Given the description of an element on the screen output the (x, y) to click on. 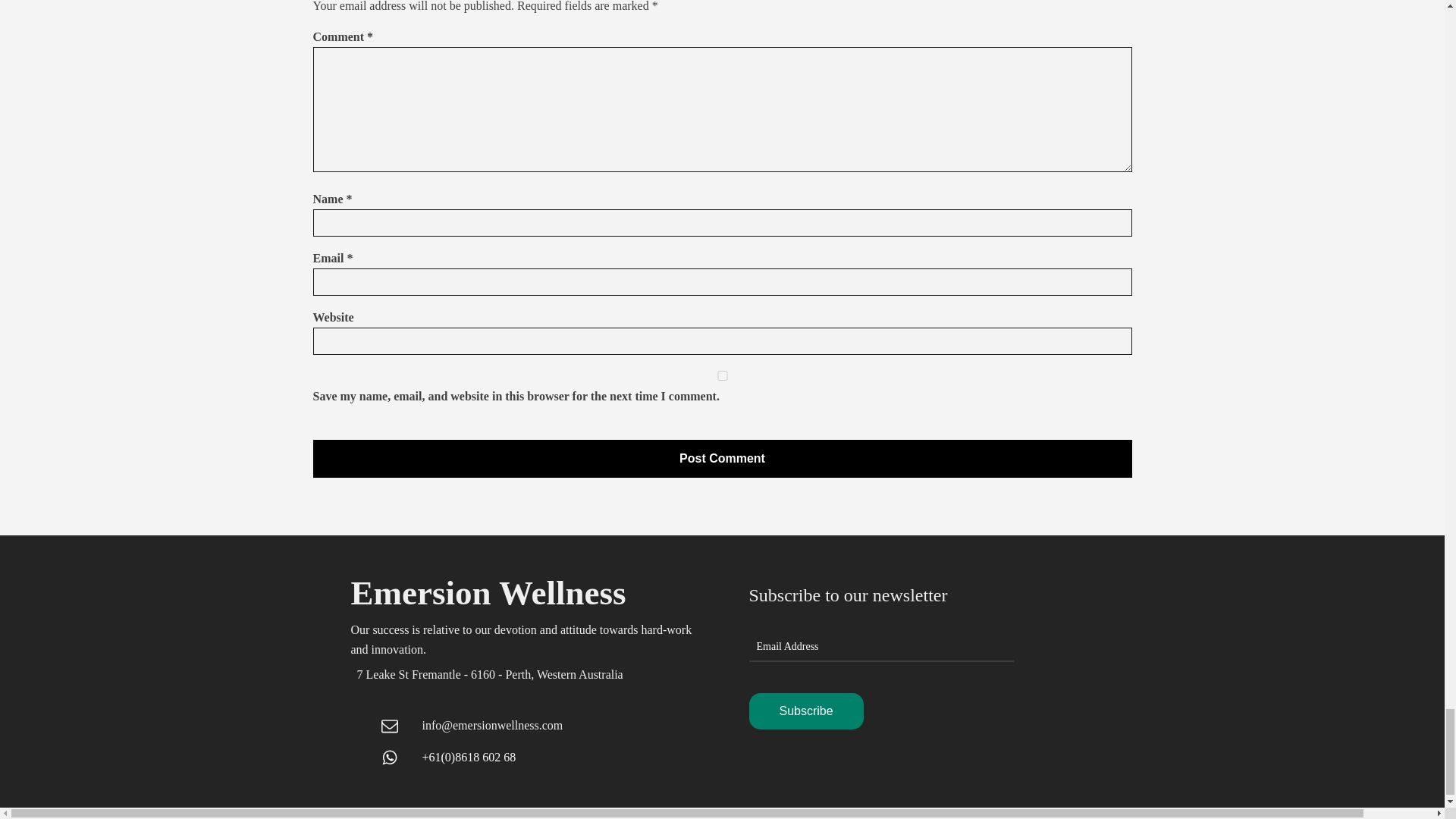
Subscribe (806, 710)
yes (722, 375)
Post Comment (722, 458)
